Given the description of an element on the screen output the (x, y) to click on. 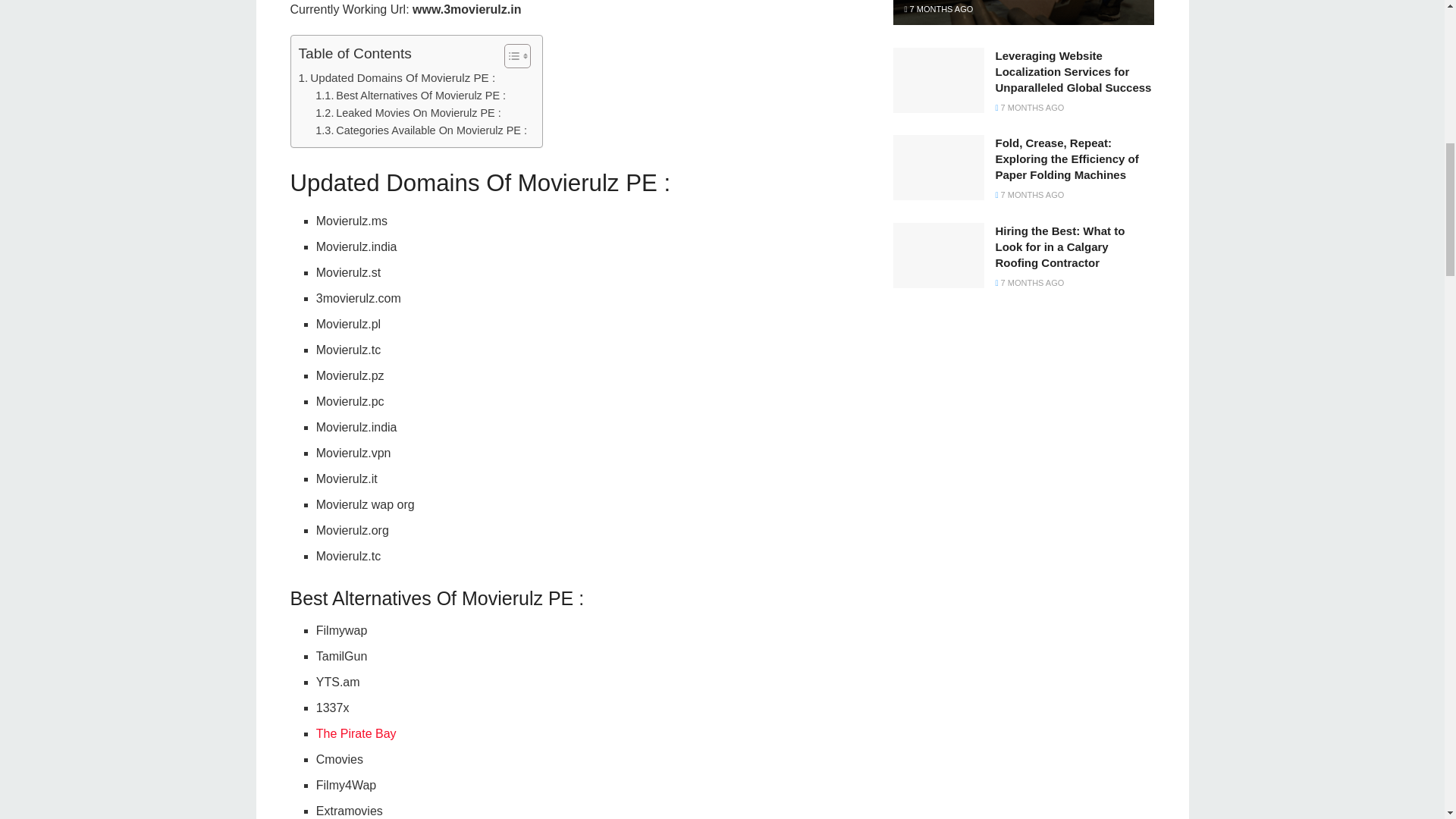
Leaked Movies On Movierulz PE : (407, 113)
Best Alternatives Of Movierulz PE : (410, 95)
Updated Domains Of Movierulz PE : (397, 76)
Categories Available On Movierulz PE : (421, 130)
